Given the description of an element on the screen output the (x, y) to click on. 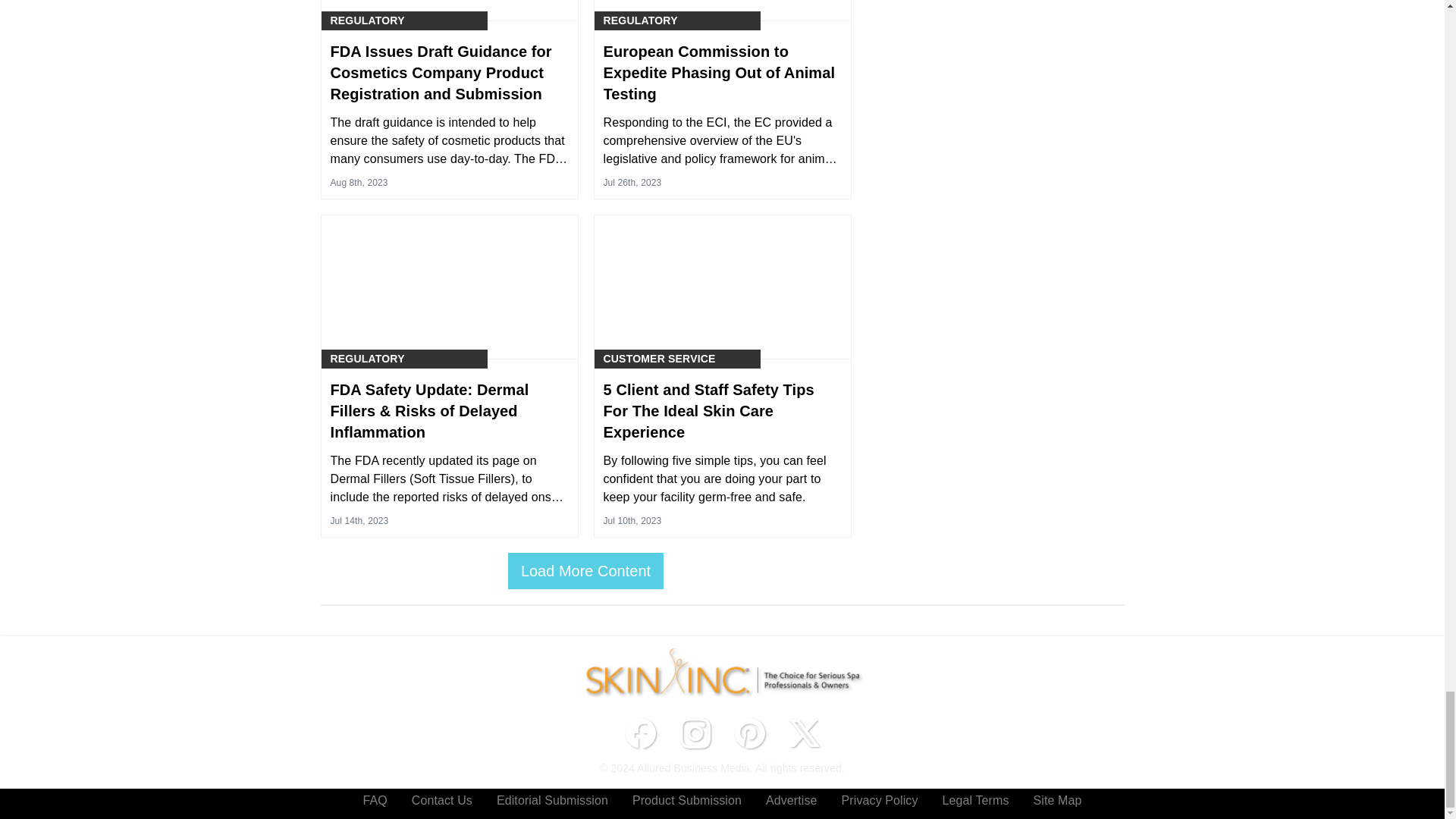
Pinterest icon (748, 733)
Facebook icon (639, 733)
Twitter X icon (803, 733)
Instagram icon (694, 733)
